Given the description of an element on the screen output the (x, y) to click on. 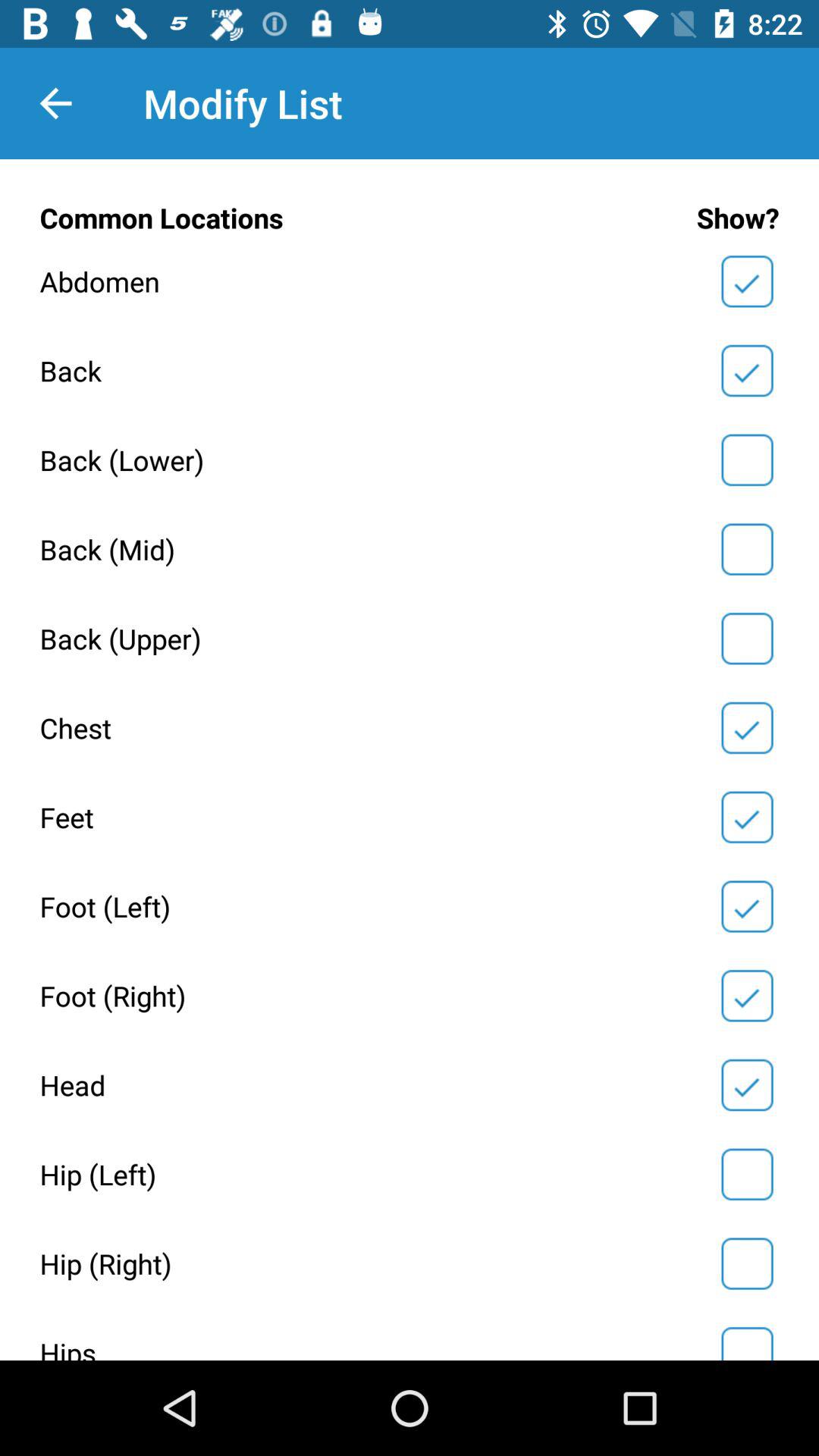
show chest (747, 727)
